Given the description of an element on the screen output the (x, y) to click on. 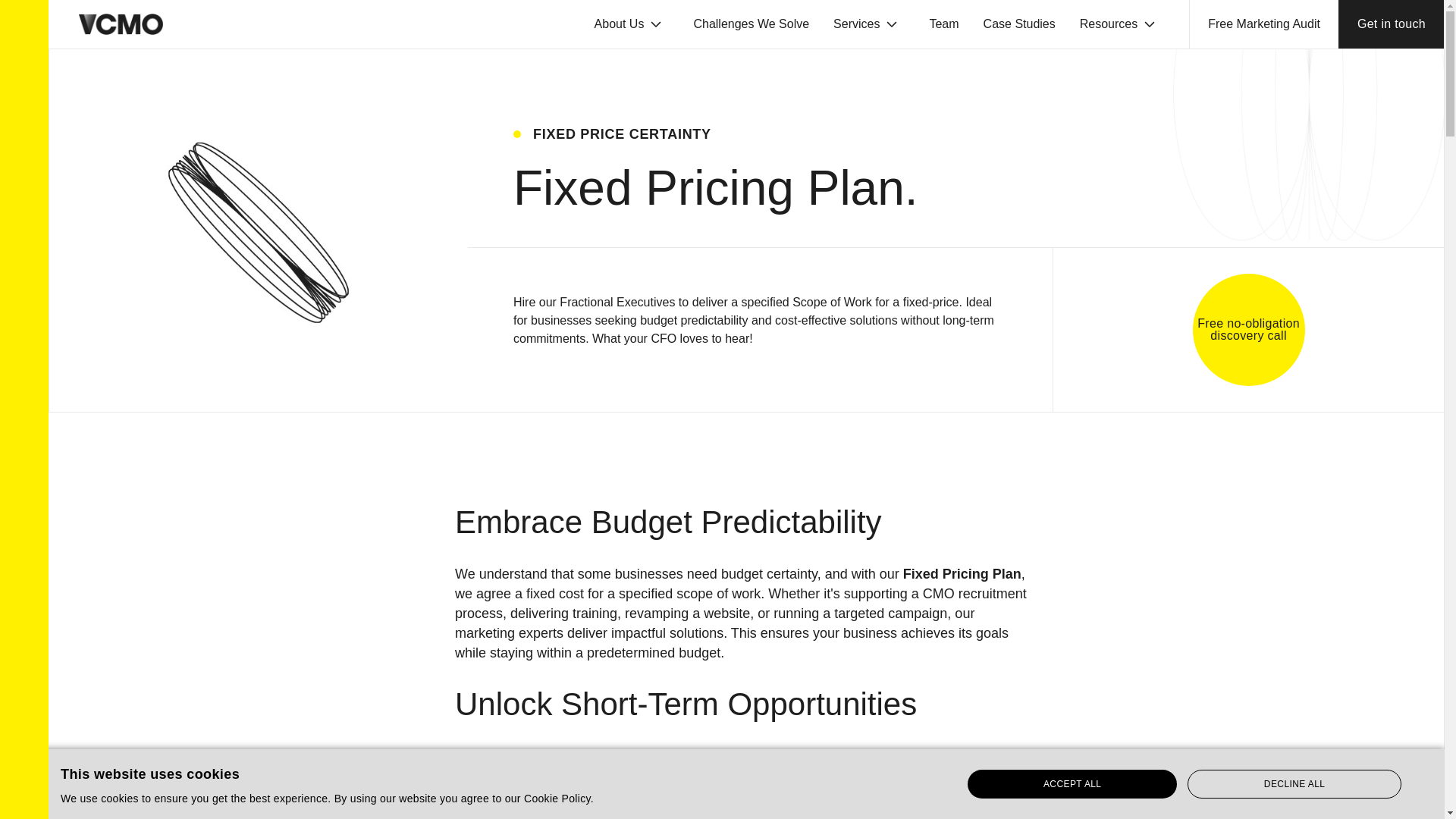
Case Studies (1019, 24)
Get in touch (1391, 24)
Challenges We Solve (751, 24)
Free Marketing Audit (1263, 24)
Free no-obligation discovery call (1248, 329)
Team (943, 24)
